Given the description of an element on the screen output the (x, y) to click on. 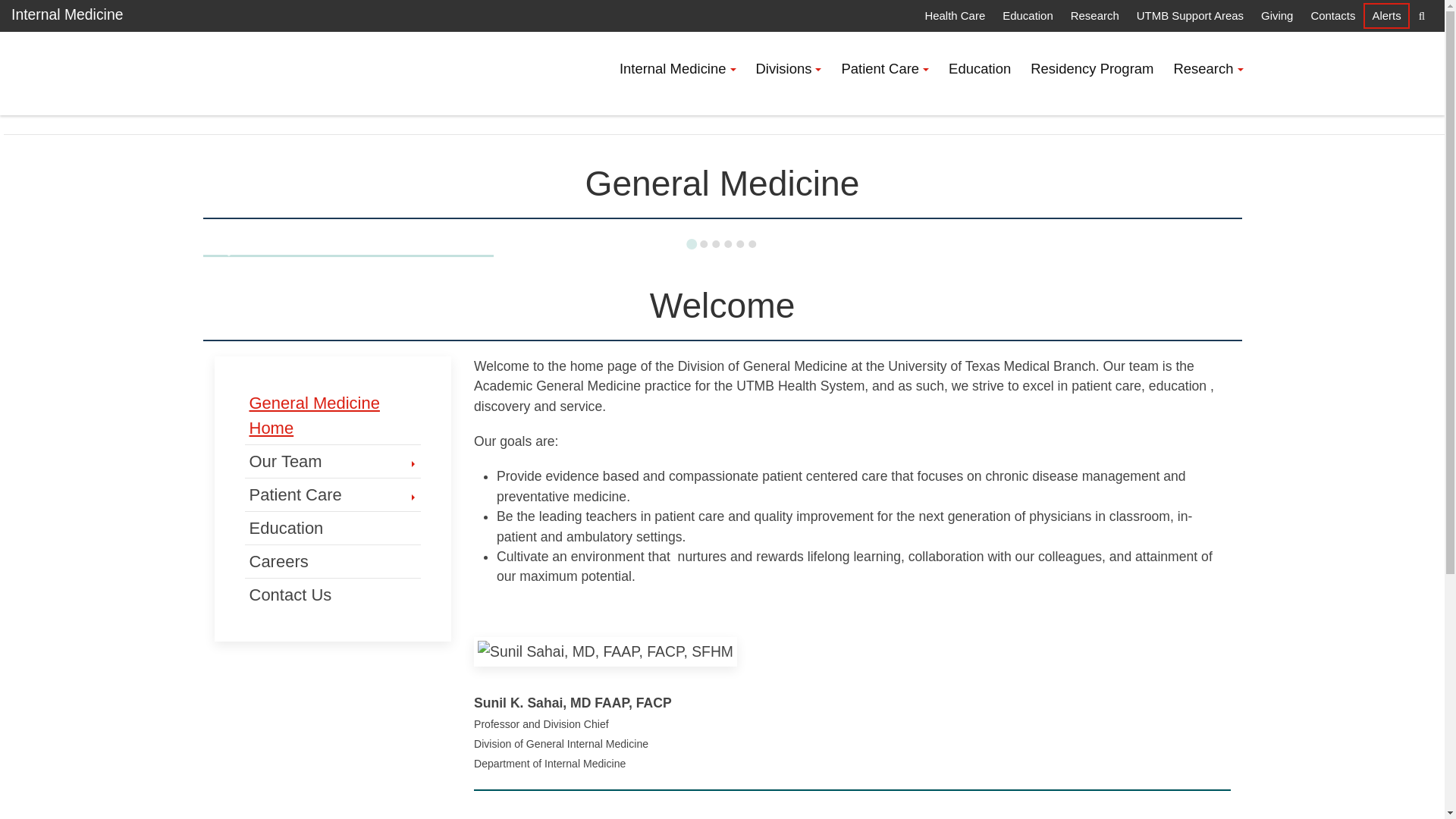
Health Care (953, 15)
Alerts (1385, 15)
Contacts (1331, 15)
Research (1093, 15)
Giving (1276, 15)
Education (1026, 15)
Internal Medicine (677, 68)
Divisions (788, 68)
The University of Texas Medical Branch (265, 73)
UTMB Health (265, 73)
